Given the description of an element on the screen output the (x, y) to click on. 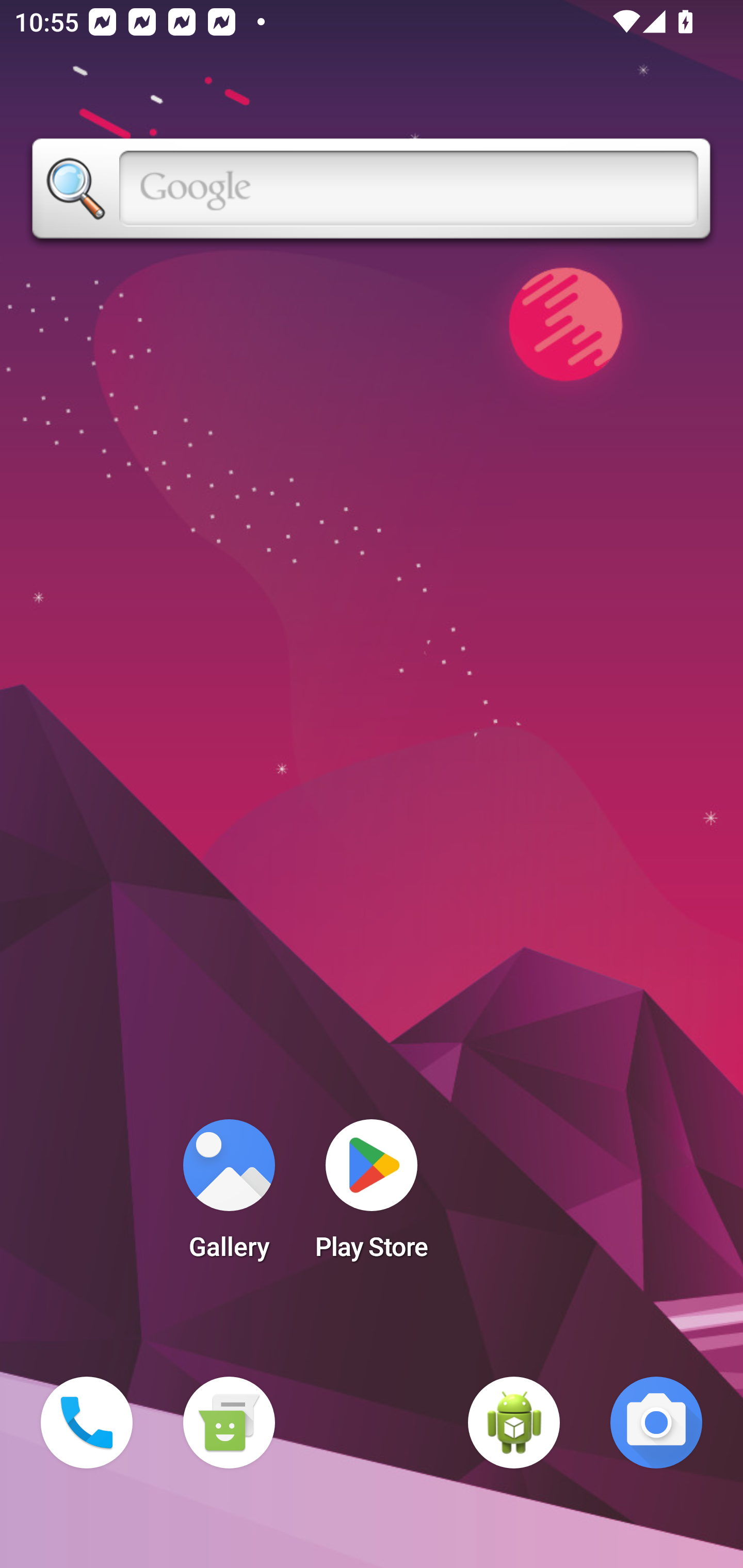
Gallery (228, 1195)
Play Store (371, 1195)
Phone (86, 1422)
Messaging (228, 1422)
WebView Browser Tester (513, 1422)
Camera (656, 1422)
